Given the description of an element on the screen output the (x, y) to click on. 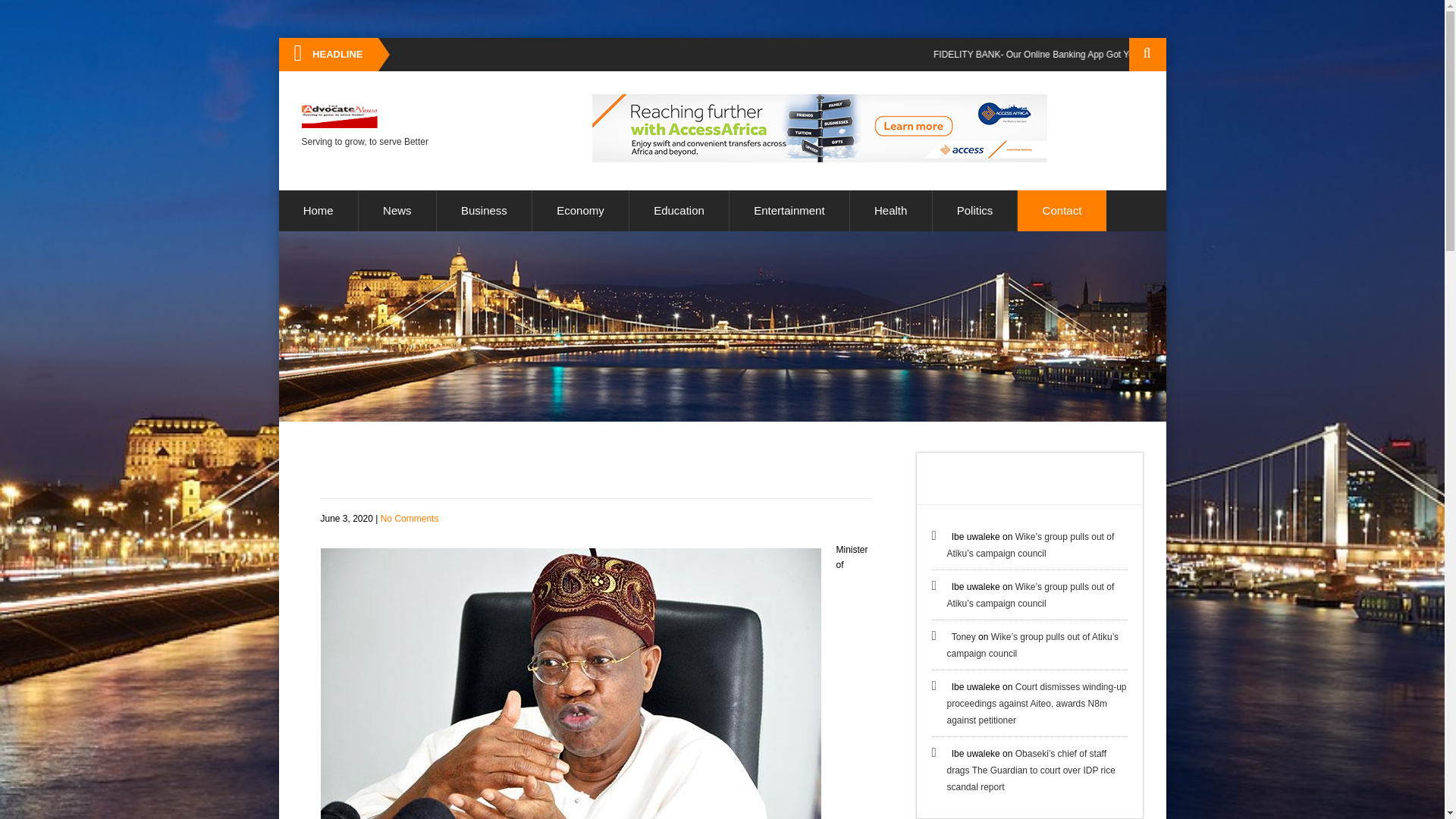
No Comments (409, 518)
News (396, 210)
Business (483, 210)
Contact (1061, 210)
Serving to grow, to serve Better (364, 127)
Home (318, 210)
Education (678, 210)
Toney (963, 636)
Politics (975, 210)
Economy (580, 210)
Health (890, 210)
Entertainment (788, 210)
